Given the description of an element on the screen output the (x, y) to click on. 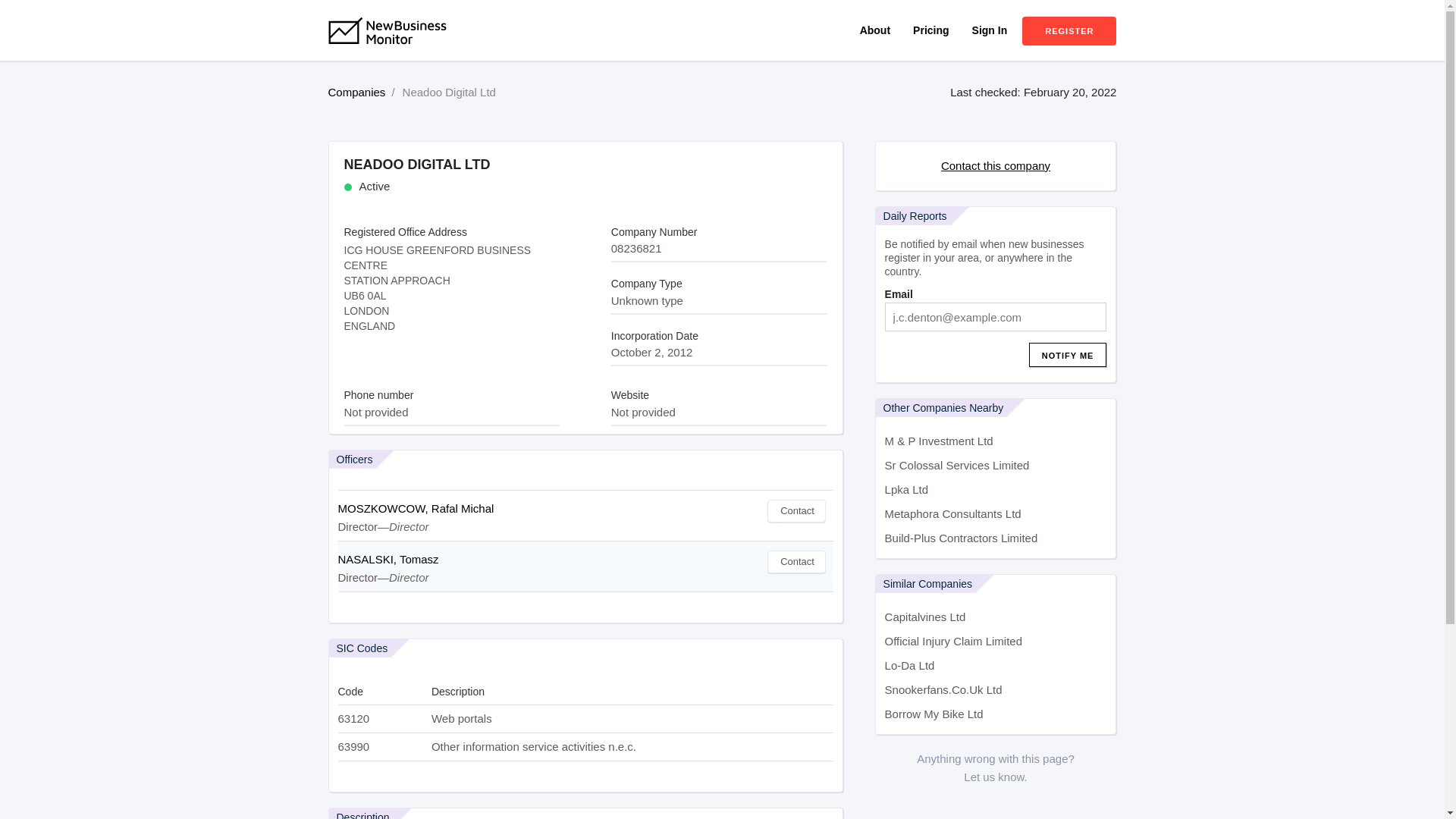
NOTIFY ME (1067, 354)
Contact (796, 561)
About (874, 30)
Snookerfans.Co.Uk Ltd (996, 689)
Sign In (989, 30)
Lo-Da Ltd (996, 665)
Lpka Ltd (996, 489)
Sr Colossal Services Limited (996, 465)
Borrow My Bike Ltd (996, 713)
Contact this company (994, 164)
